Given the description of an element on the screen output the (x, y) to click on. 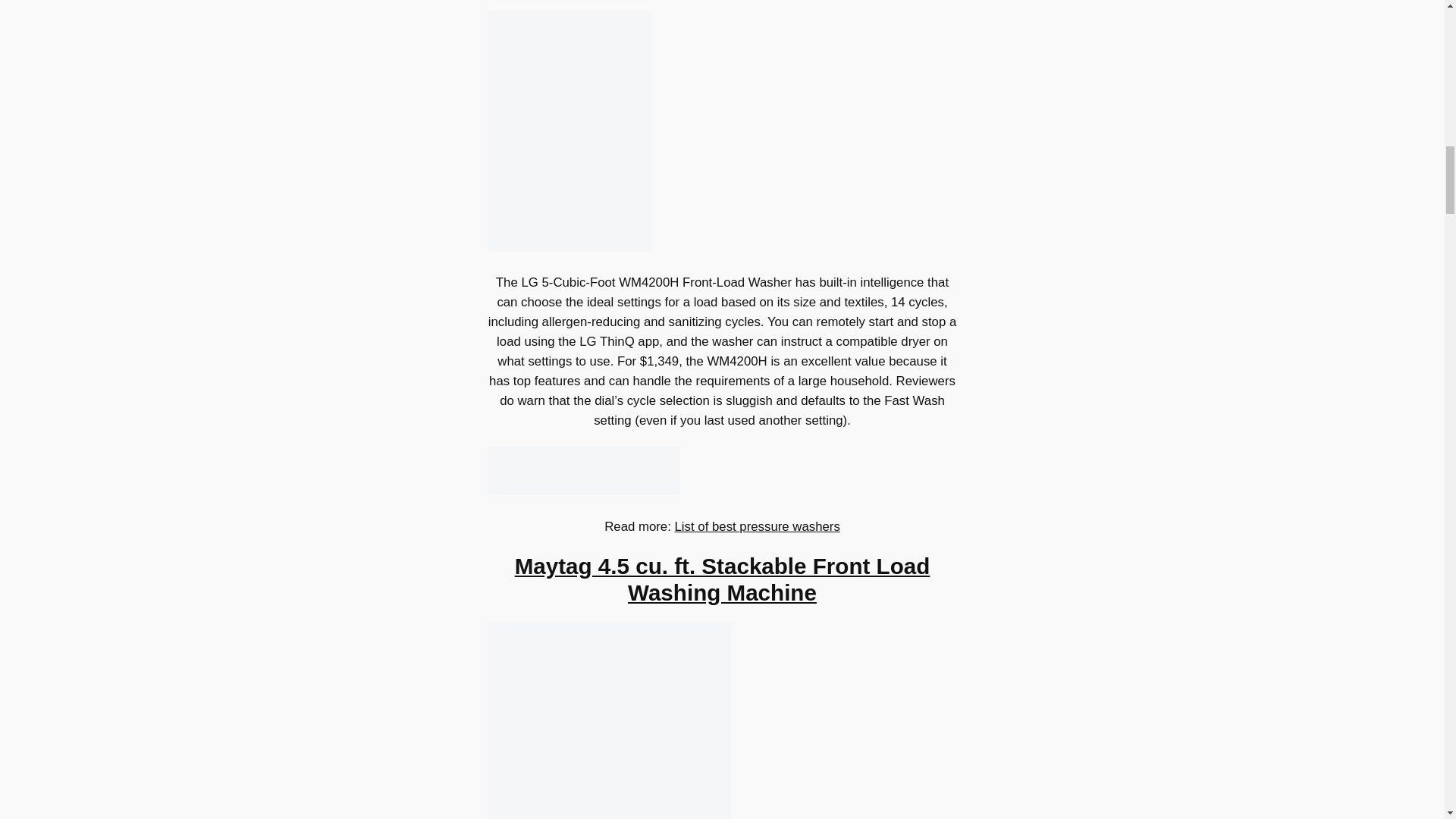
List of best pressure washers (757, 526)
Maytag 4.5 cu. ft. Stackable Front Load Washing Machine (722, 579)
